Given the description of an element on the screen output the (x, y) to click on. 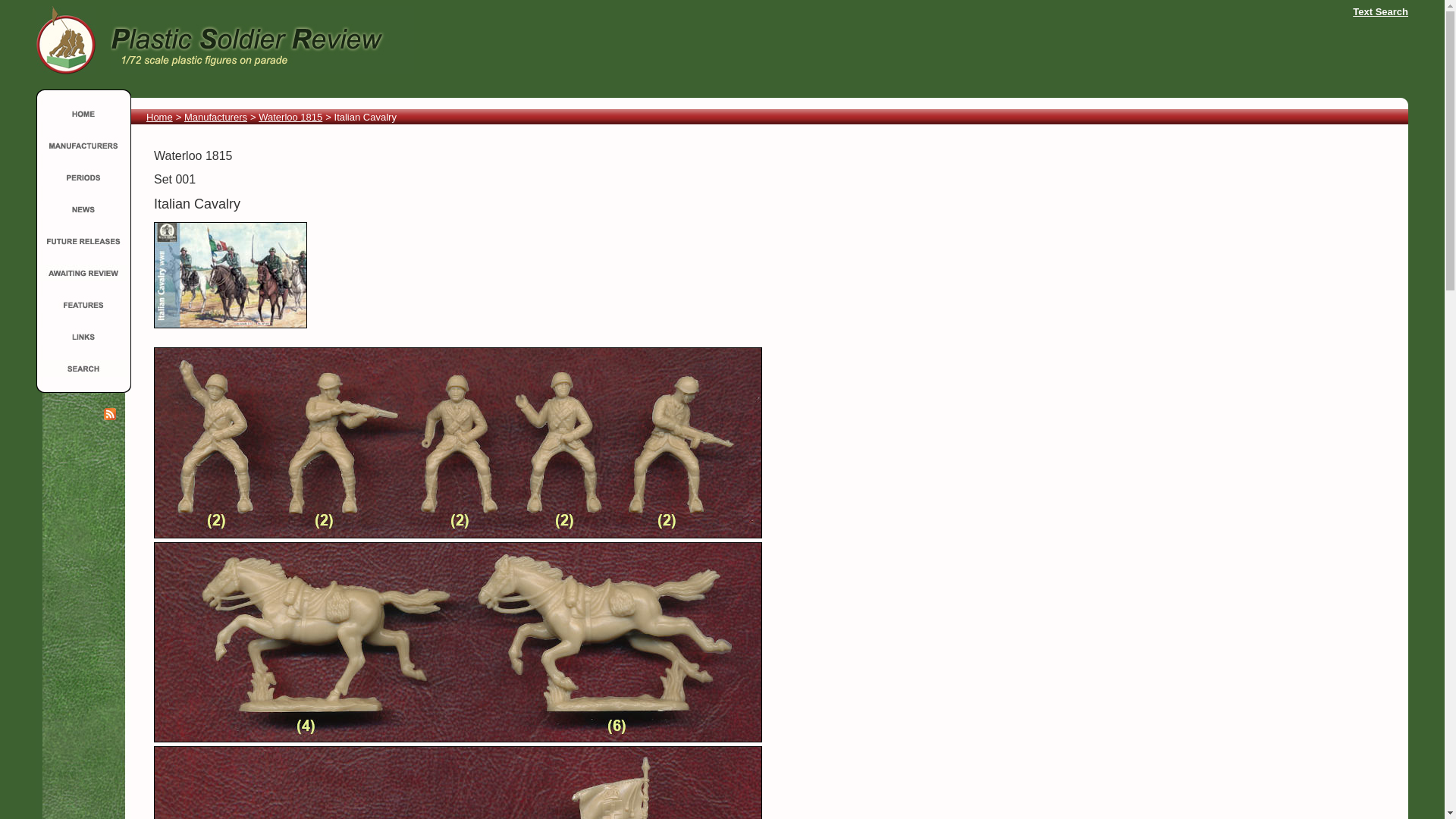
Home (160, 116)
RSS Feed (109, 413)
Waterloo 1815 (290, 116)
Text Search (1379, 11)
Manufacturers (215, 116)
